Given the description of an element on the screen output the (x, y) to click on. 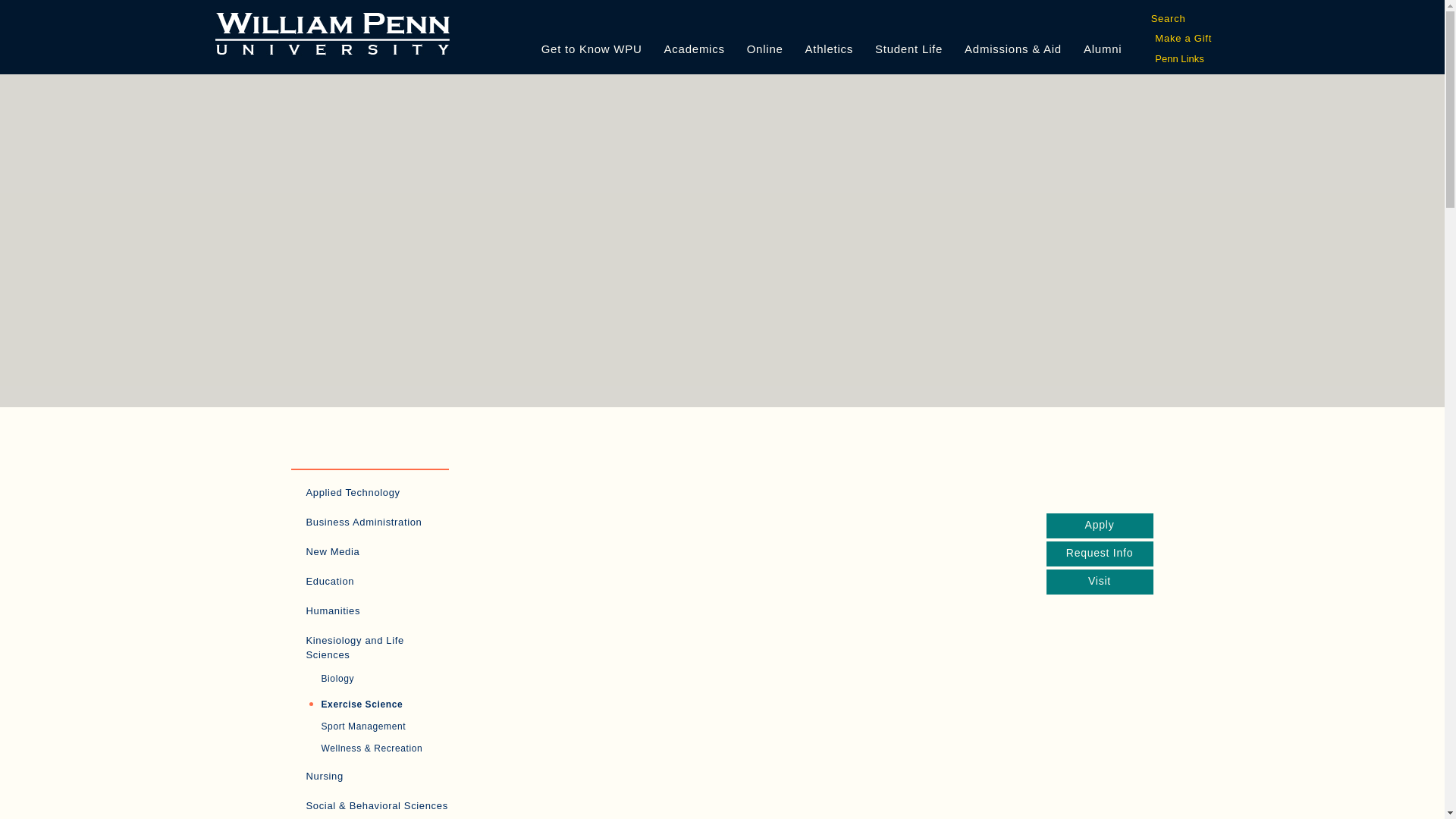
William Penn University (331, 31)
Online (766, 30)
Student Life (911, 30)
Academics (696, 30)
Get to Know WPU (593, 30)
Athletics (831, 30)
